Given the description of an element on the screen output the (x, y) to click on. 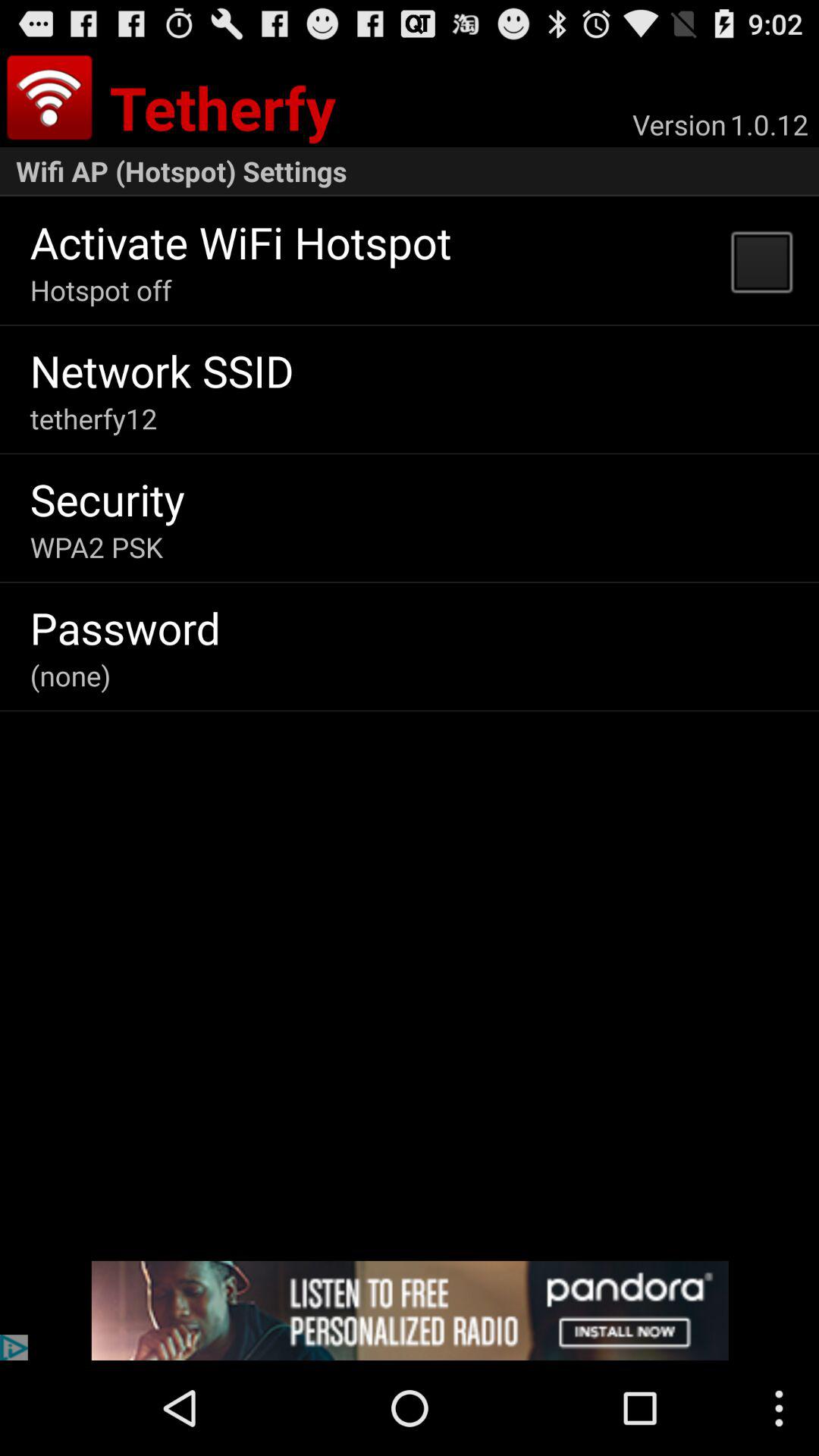
select the icon next to activate wifi hotspot item (761, 260)
